Given the description of an element on the screen output the (x, y) to click on. 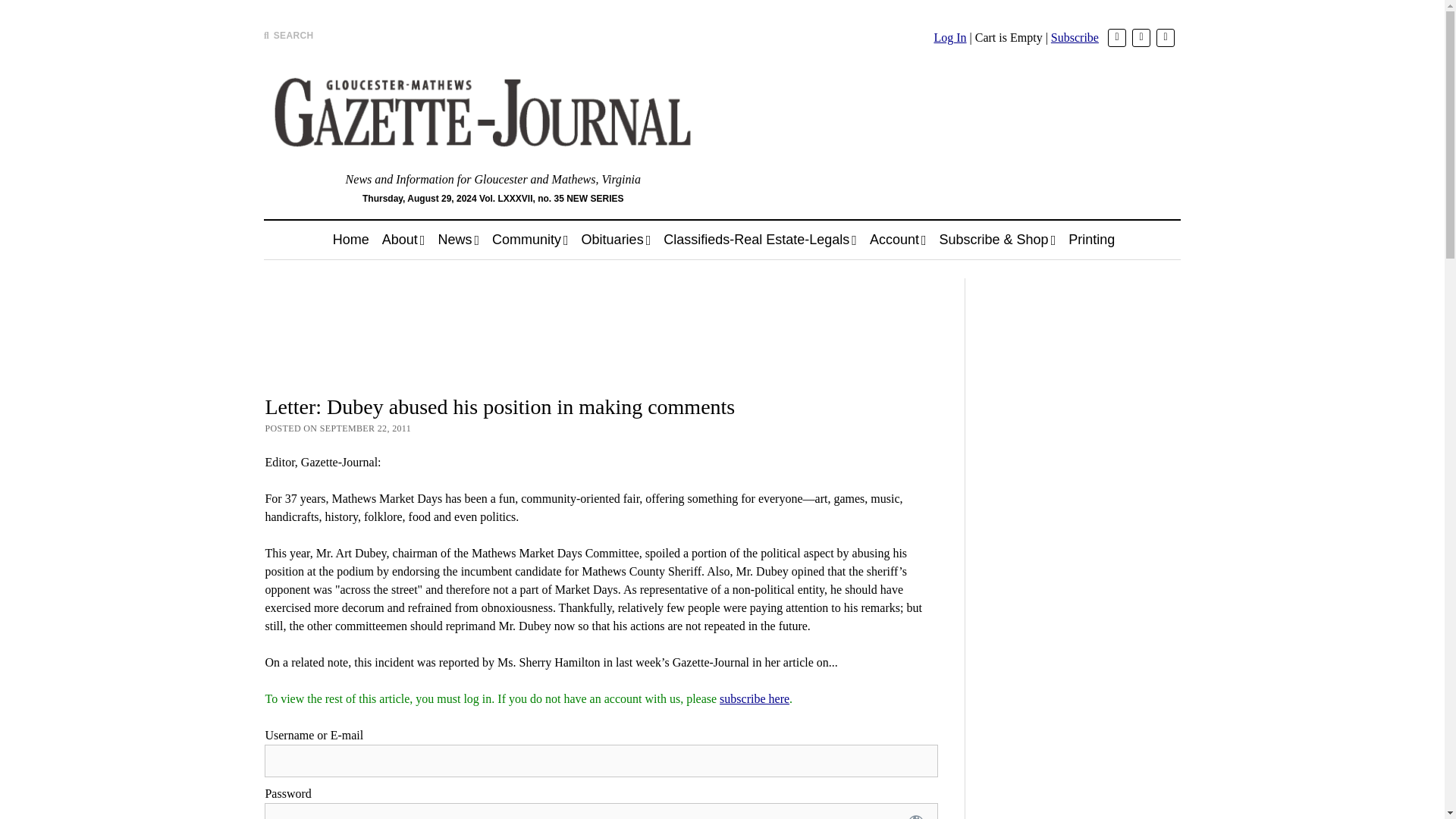
Community (530, 239)
Subscribe (1075, 37)
SEARCH (288, 35)
News (457, 239)
Obituaries (616, 239)
twitter (1116, 37)
facebook (1141, 37)
About (402, 239)
instagram (1165, 37)
Log In (949, 37)
